Given the description of an element on the screen output the (x, y) to click on. 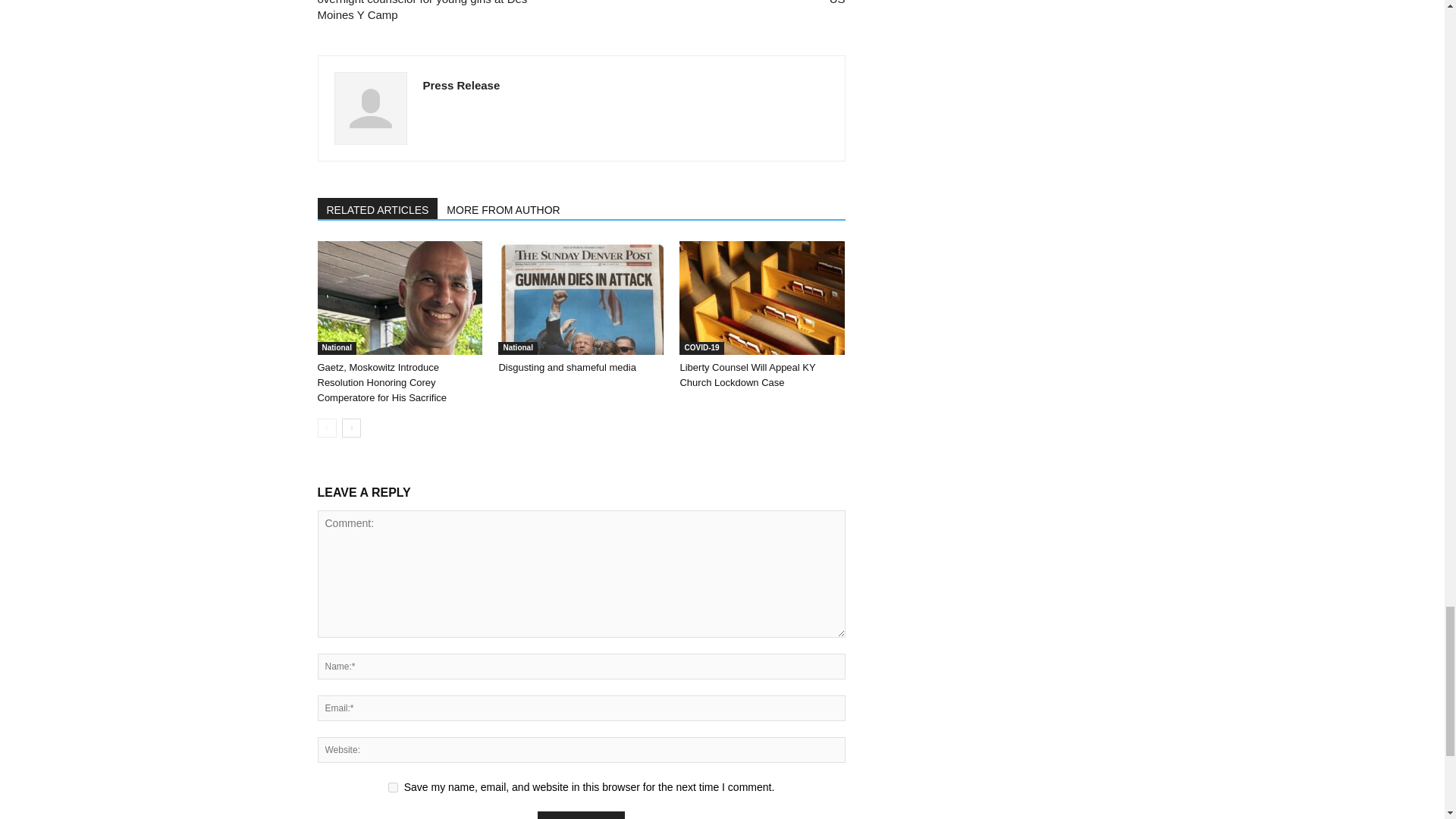
Post Comment (580, 815)
yes (392, 787)
